Given the description of an element on the screen output the (x, y) to click on. 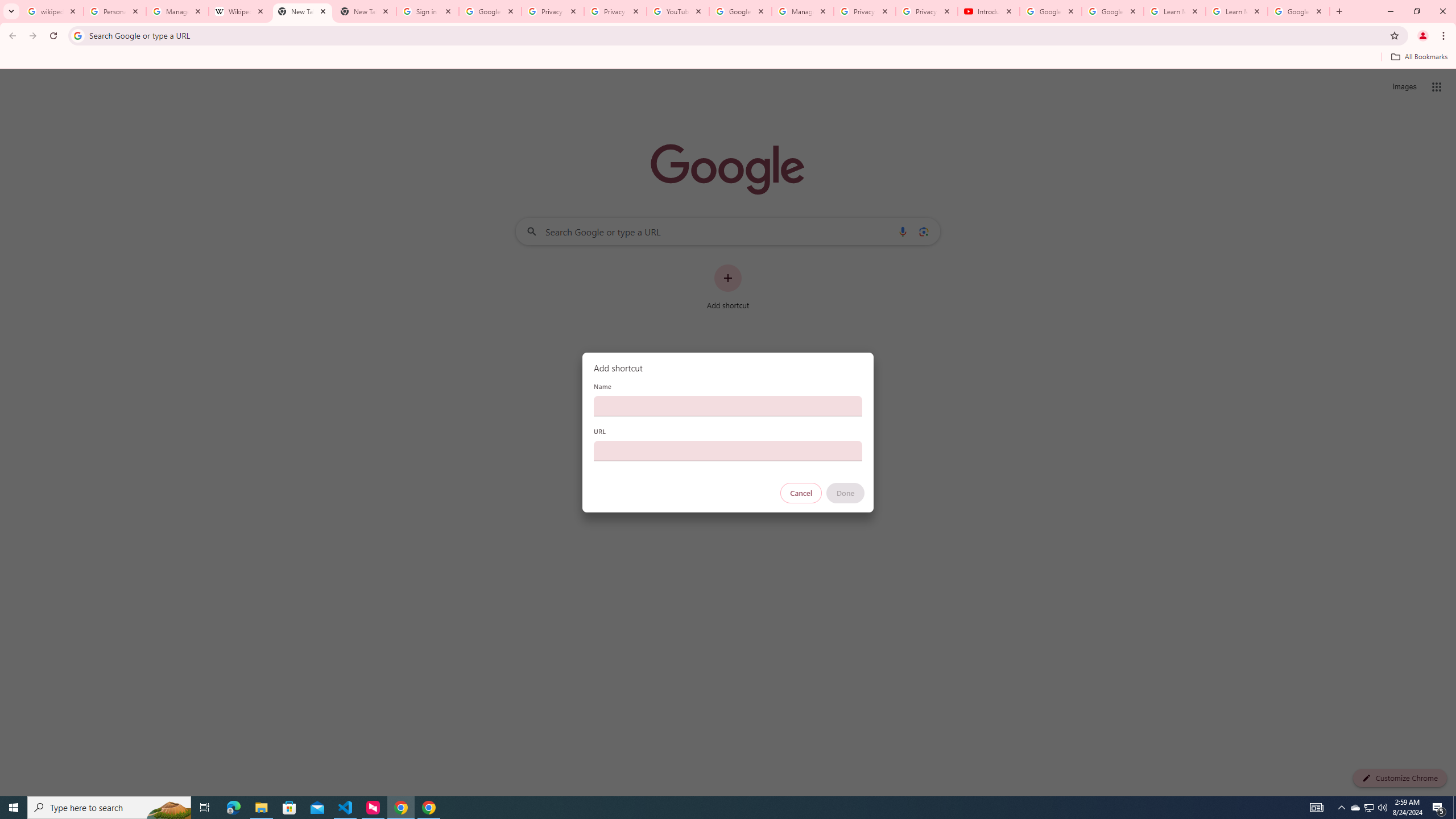
Google Account Help (740, 11)
Google Drive: Sign-in (490, 11)
